Given the description of an element on the screen output the (x, y) to click on. 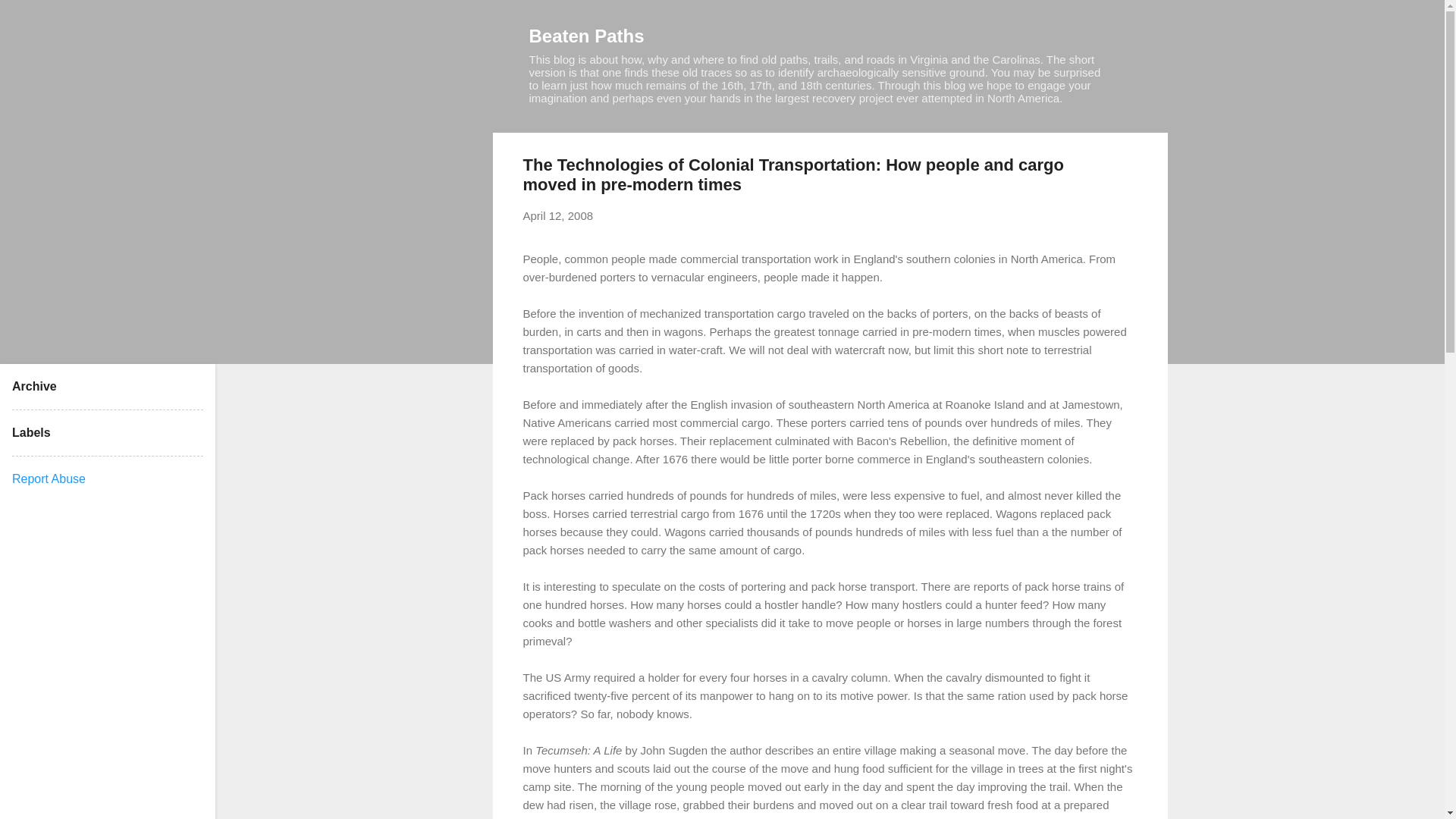
April 12, 2008 (558, 215)
Search (29, 18)
Beaten Paths (587, 35)
permanent link (558, 215)
